Given the description of an element on the screen output the (x, y) to click on. 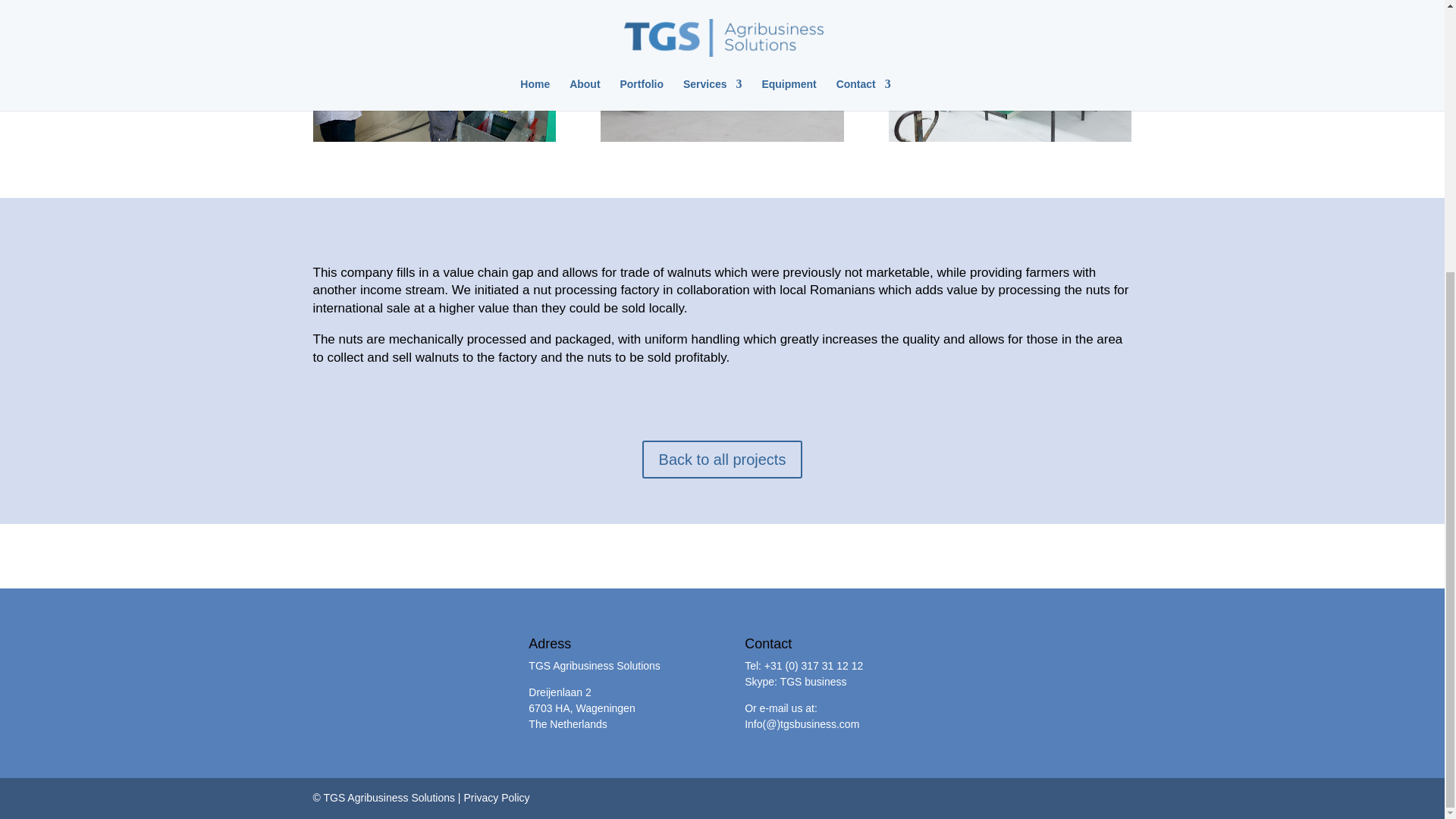
walnut processing line Romania (721, 70)
installing walnut processing line Romania (433, 70)
walnut processing line Romania 2 (1009, 70)
Back to all projects (722, 459)
Privacy Policy (496, 797)
